Given the description of an element on the screen output the (x, y) to click on. 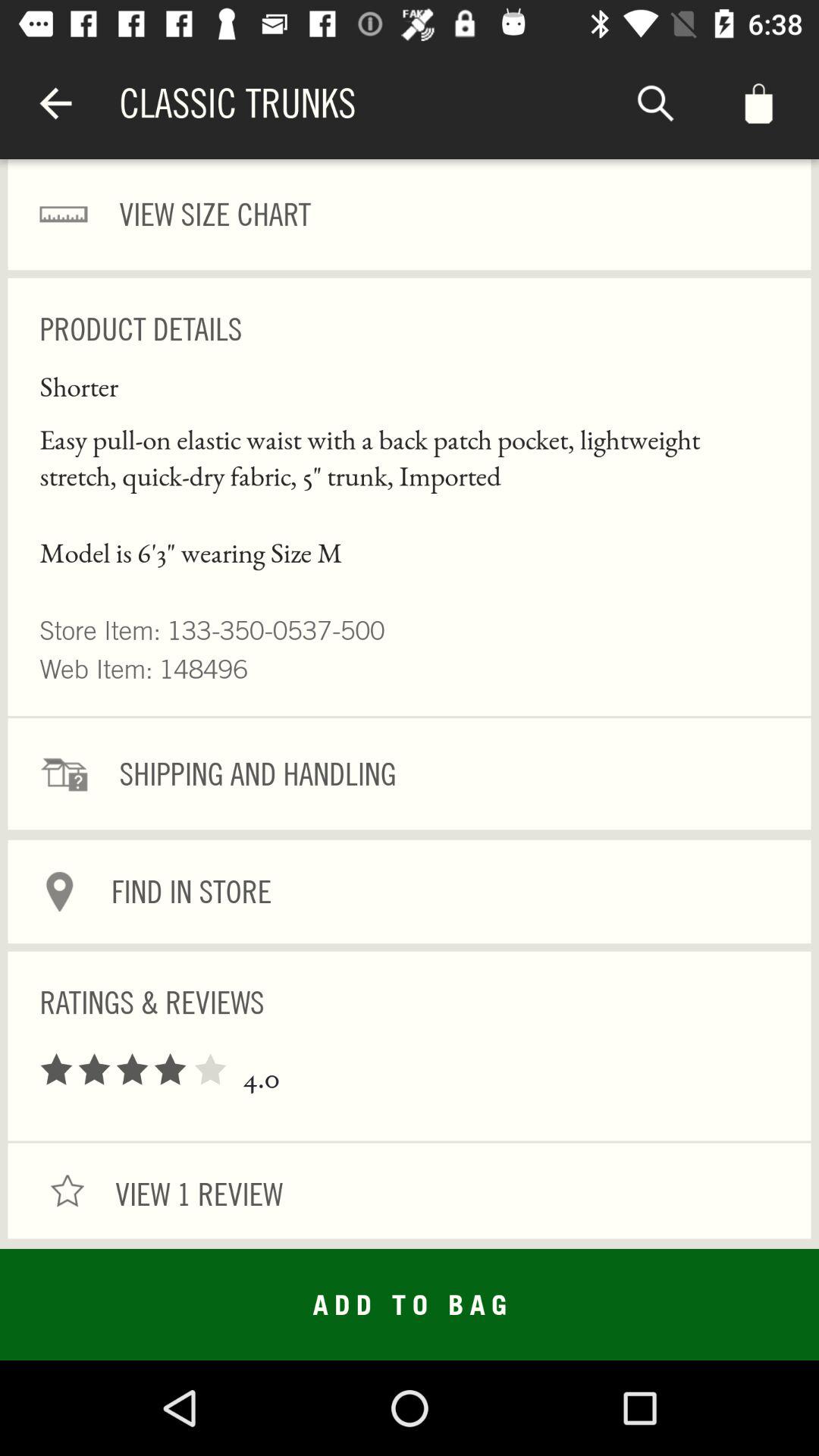
choose find in store (409, 891)
